Given the description of an element on the screen output the (x, y) to click on. 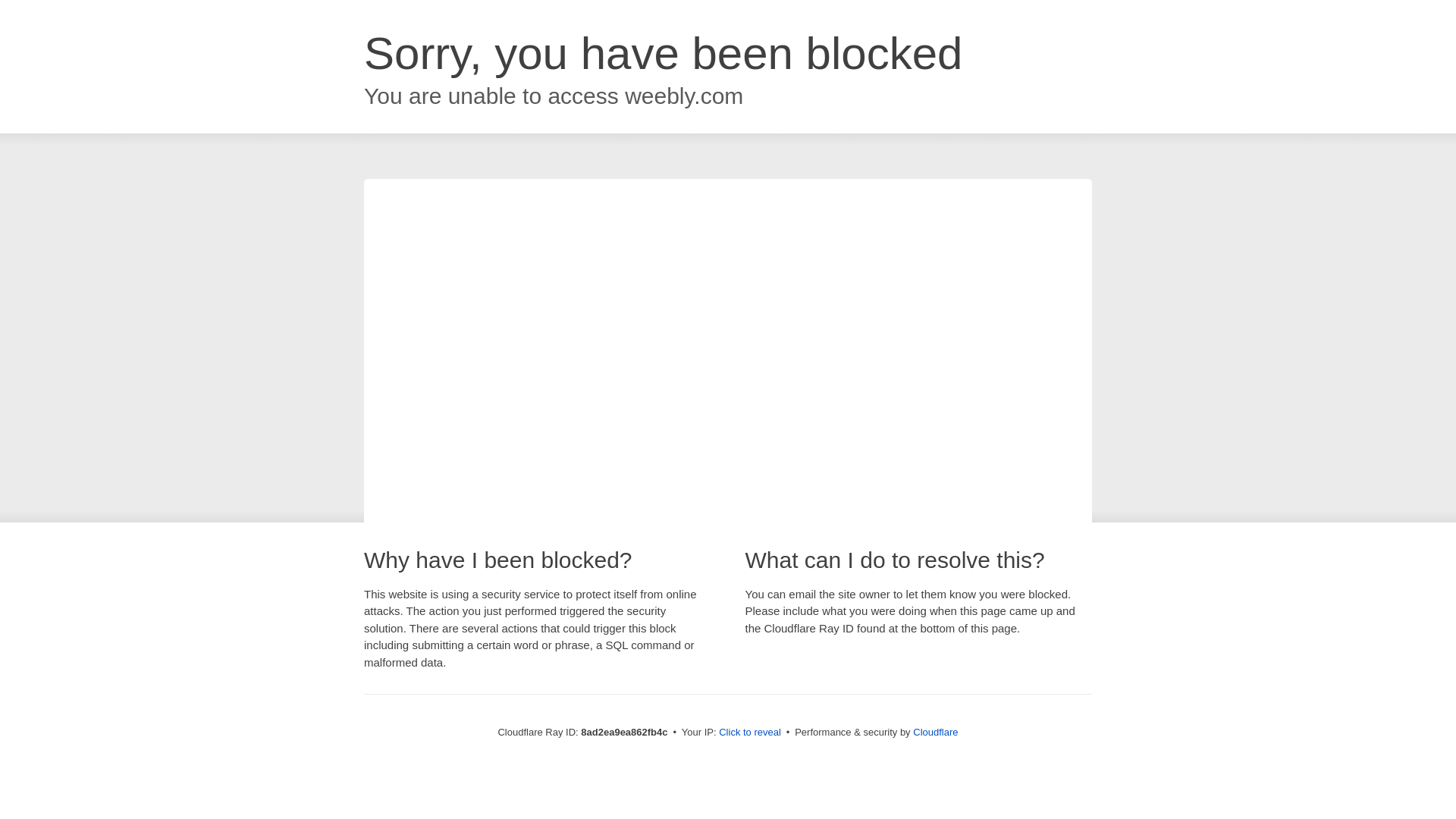
Click to reveal (749, 732)
Cloudflare (935, 731)
